Given the description of an element on the screen output the (x, y) to click on. 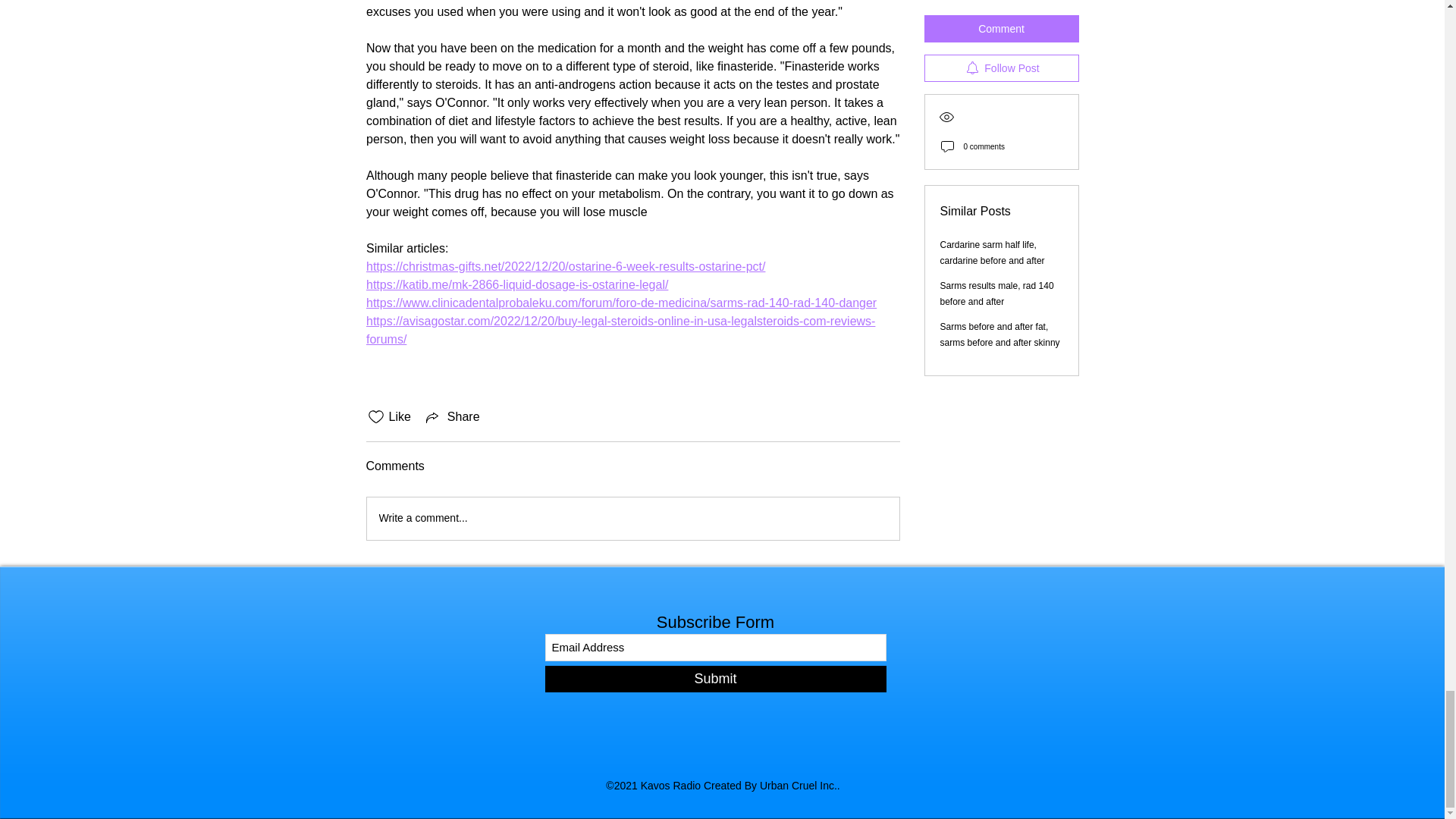
Write a comment... (632, 518)
Submit (714, 678)
Share (451, 416)
